Given the description of an element on the screen output the (x, y) to click on. 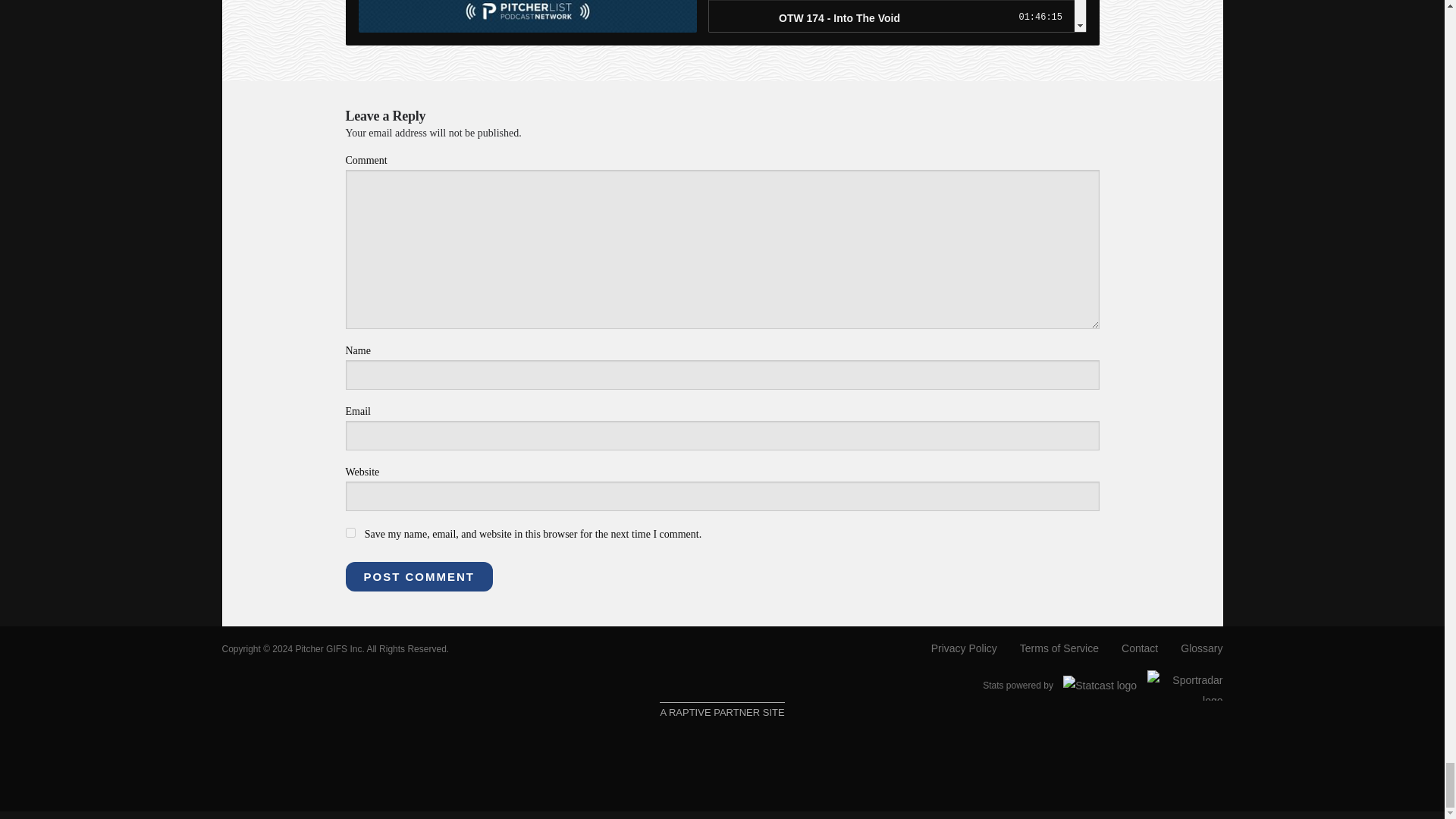
yes (350, 532)
Post Comment (419, 576)
